Given the description of an element on the screen output the (x, y) to click on. 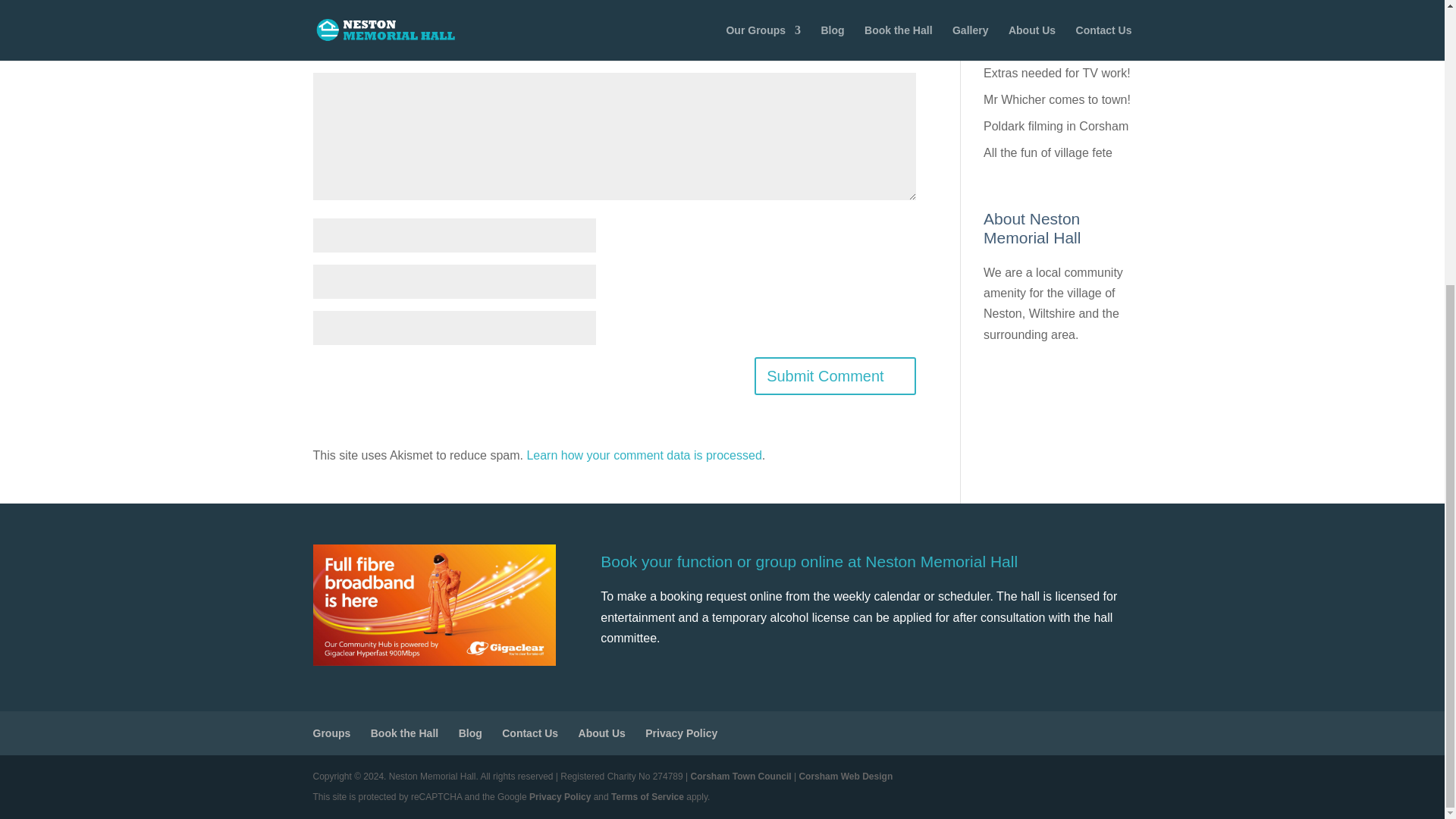
Submit Comment (834, 375)
Learn how your comment data is processed (643, 454)
Submit Comment (834, 375)
